Given the description of an element on the screen output the (x, y) to click on. 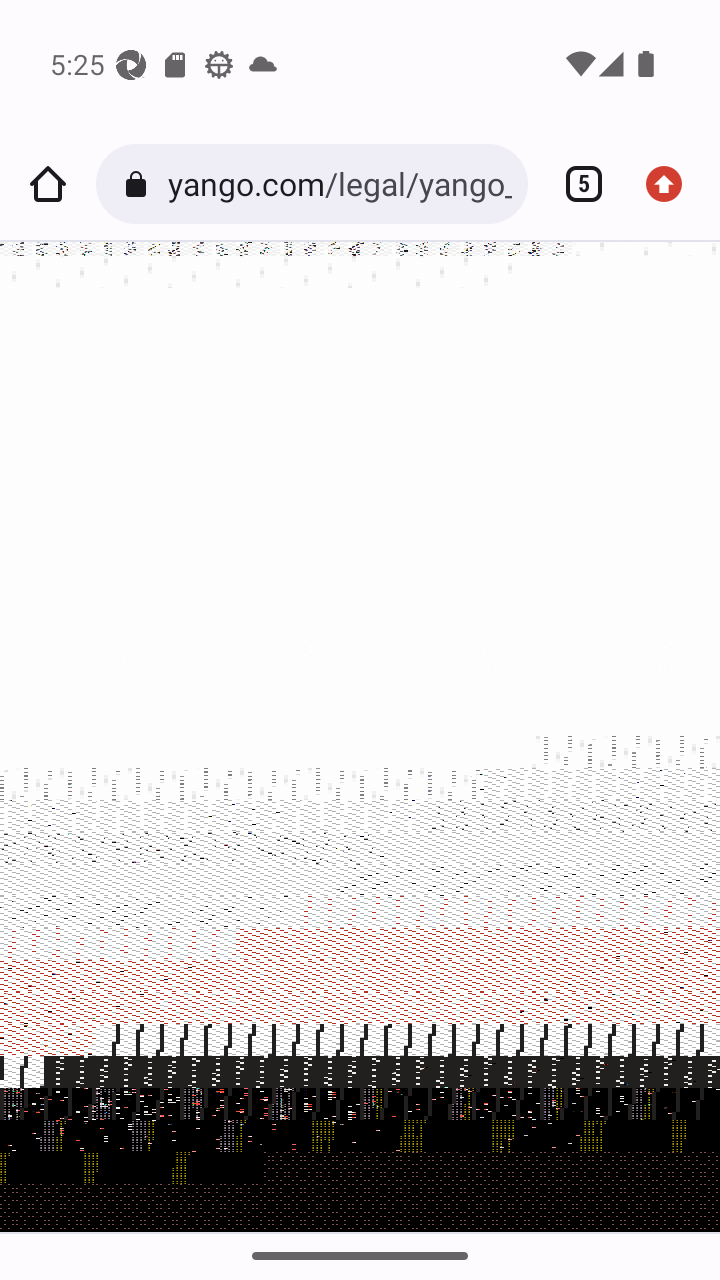
Home (47, 184)
Connection is secure (139, 184)
Switch or close tabs (575, 184)
Update available. More options (672, 184)
yango.com/legal/yango_mobile_agreement/?lang%3Den (339, 184)
